Given the description of an element on the screen output the (x, y) to click on. 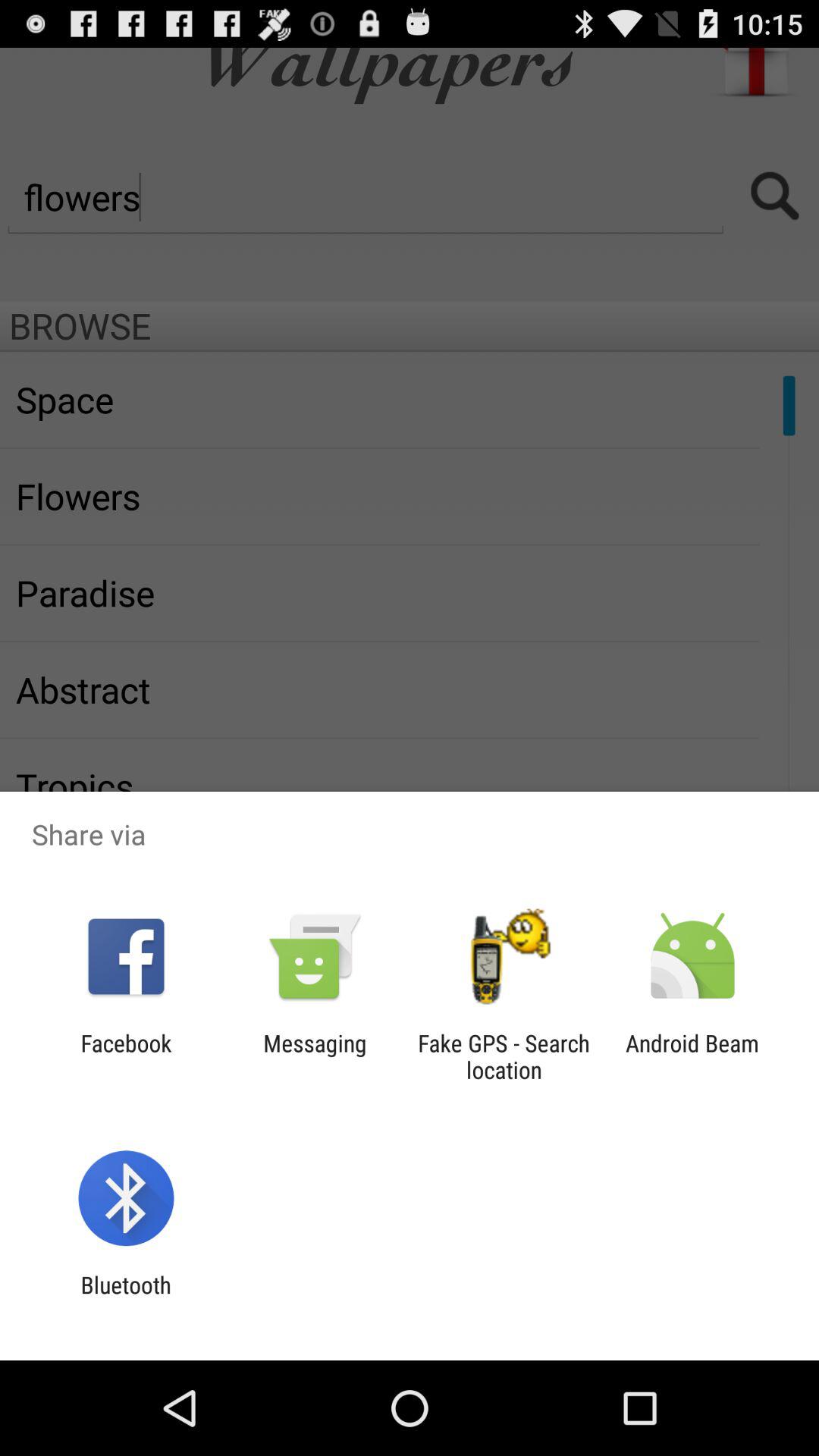
click bluetooth item (125, 1298)
